Given the description of an element on the screen output the (x, y) to click on. 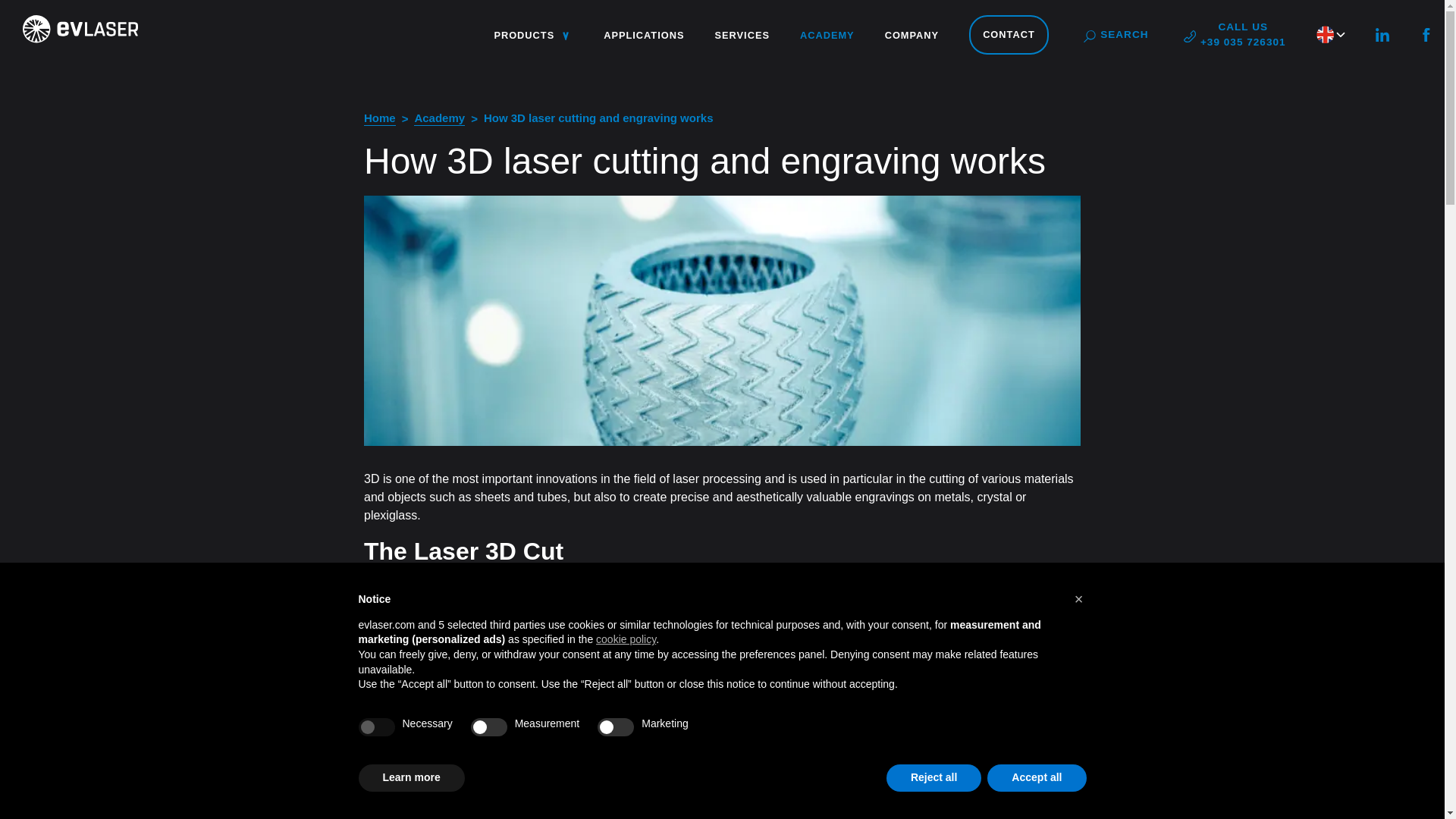
false (488, 727)
APPLICATIONS (644, 34)
Academy (438, 118)
ACADEMY (826, 34)
PRODUCTS (531, 35)
CONTACT (1008, 34)
COMPANY (1234, 34)
Home (912, 34)
true (380, 118)
SEARCH (376, 727)
false (1115, 34)
SERVICES (614, 727)
